Given the description of an element on the screen output the (x, y) to click on. 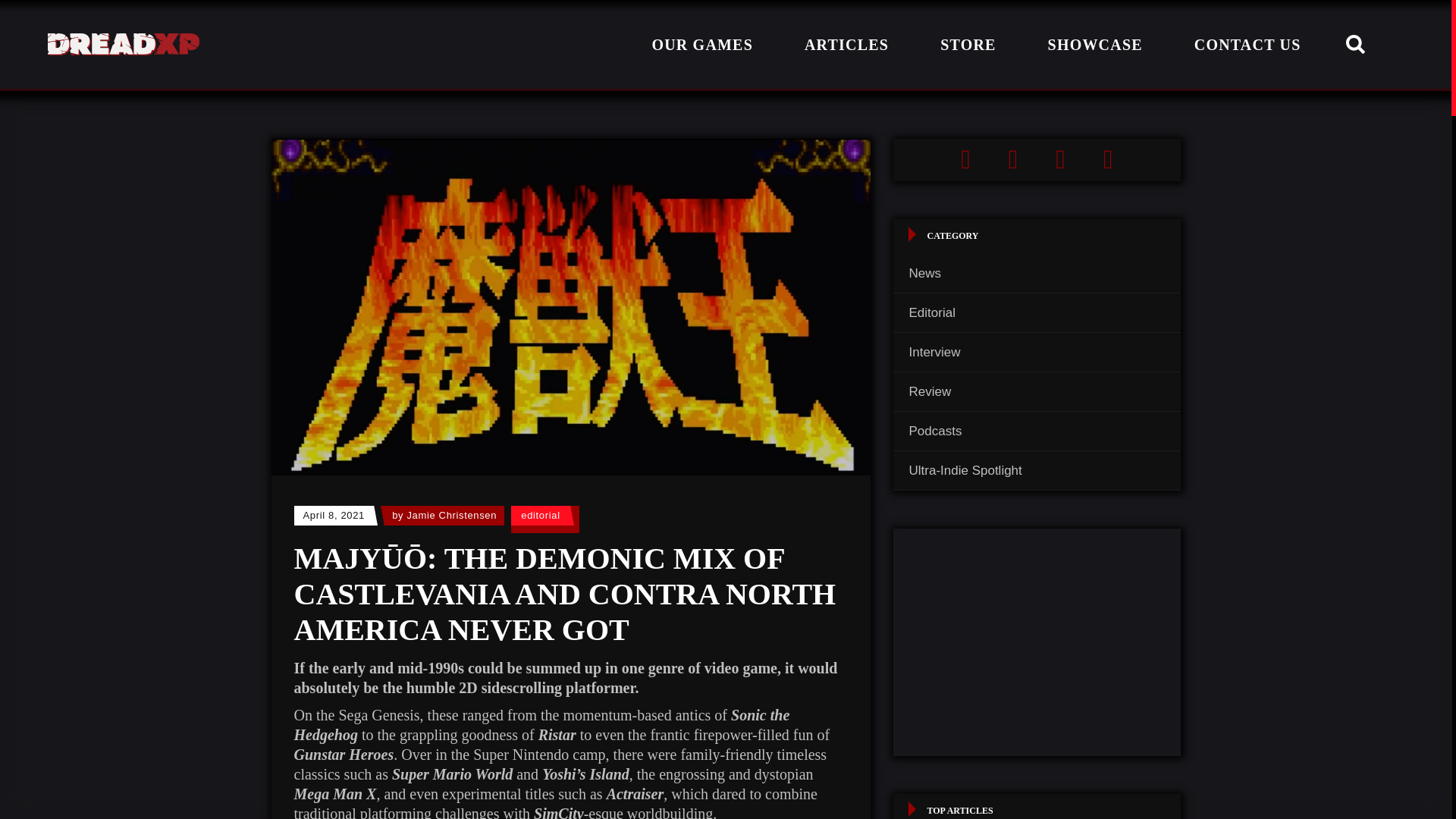
SHOWCASE (1095, 44)
ARTICLES (846, 44)
OUR GAMES (702, 44)
STORE (967, 44)
CONTACT US (1247, 44)
Shift-click to edit this widget. (1036, 159)
